Given the description of an element on the screen output the (x, y) to click on. 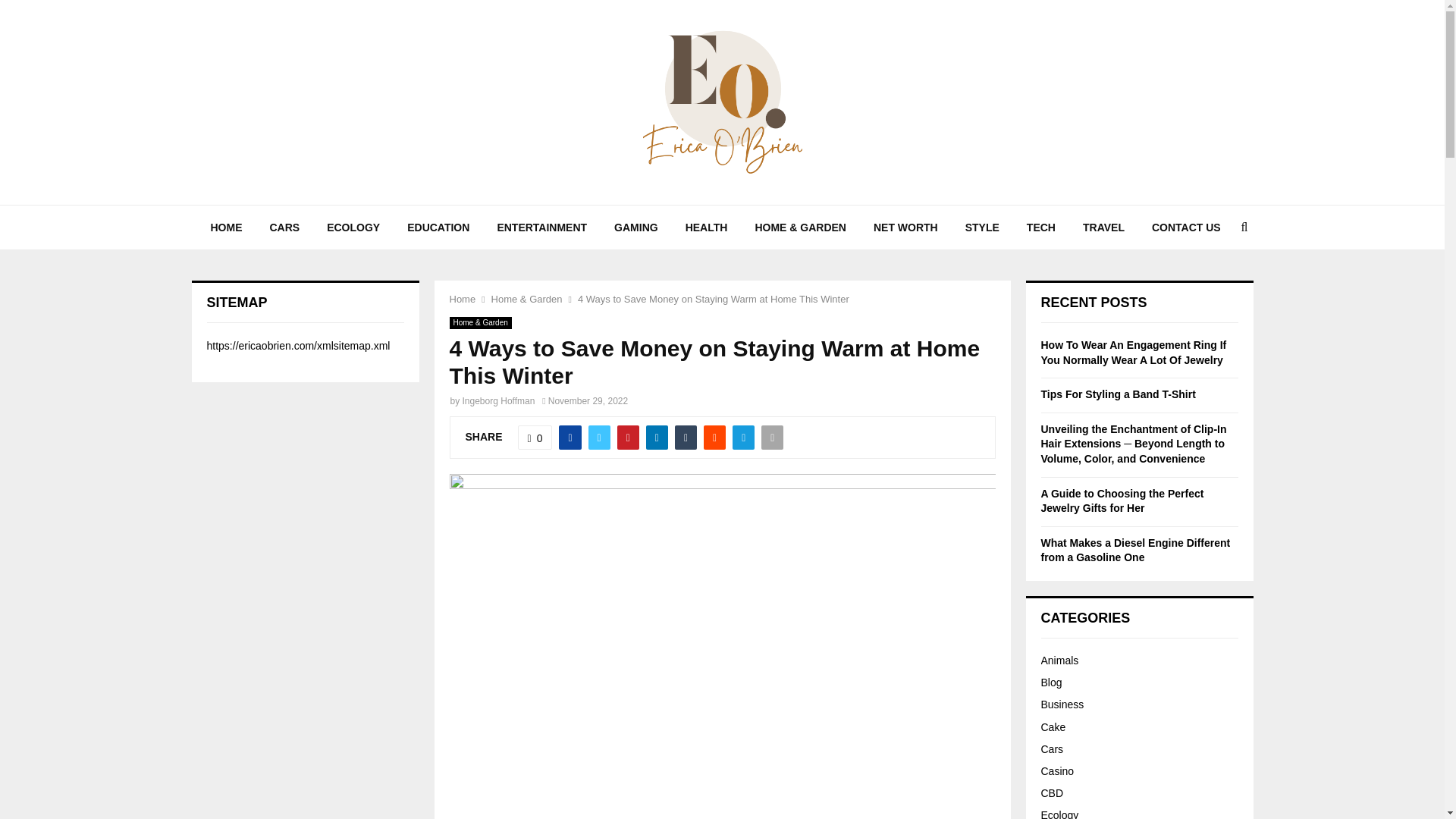
EDUCATION (438, 227)
0 (535, 437)
STYLE (982, 227)
NET WORTH (906, 227)
ENTERTAINMENT (541, 227)
TECH (1040, 227)
ECOLOGY (353, 227)
GAMING (635, 227)
CONTACT US (1186, 227)
HOME (226, 227)
